Given the description of an element on the screen output the (x, y) to click on. 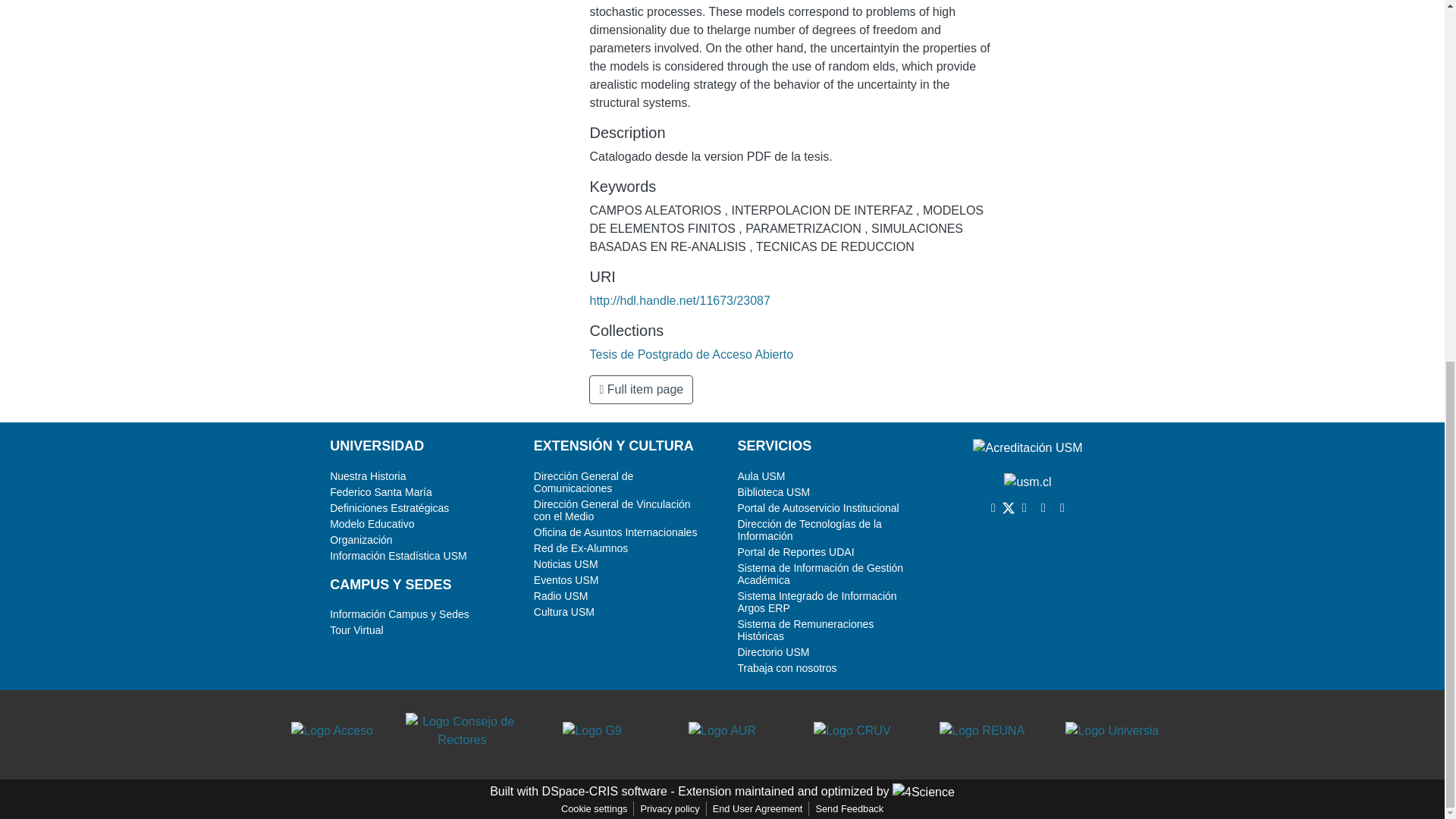
Red de Ex-Alumnos (581, 548)
Tesis de Postgrado de Acceso Abierto (691, 354)
Tour Virtual (357, 630)
Modelo Educativo (371, 523)
Oficina de Asuntos Internacionales (615, 532)
Nuestra Historia (368, 476)
Noticias USM (566, 563)
Full item page (641, 389)
